Given the description of an element on the screen output the (x, y) to click on. 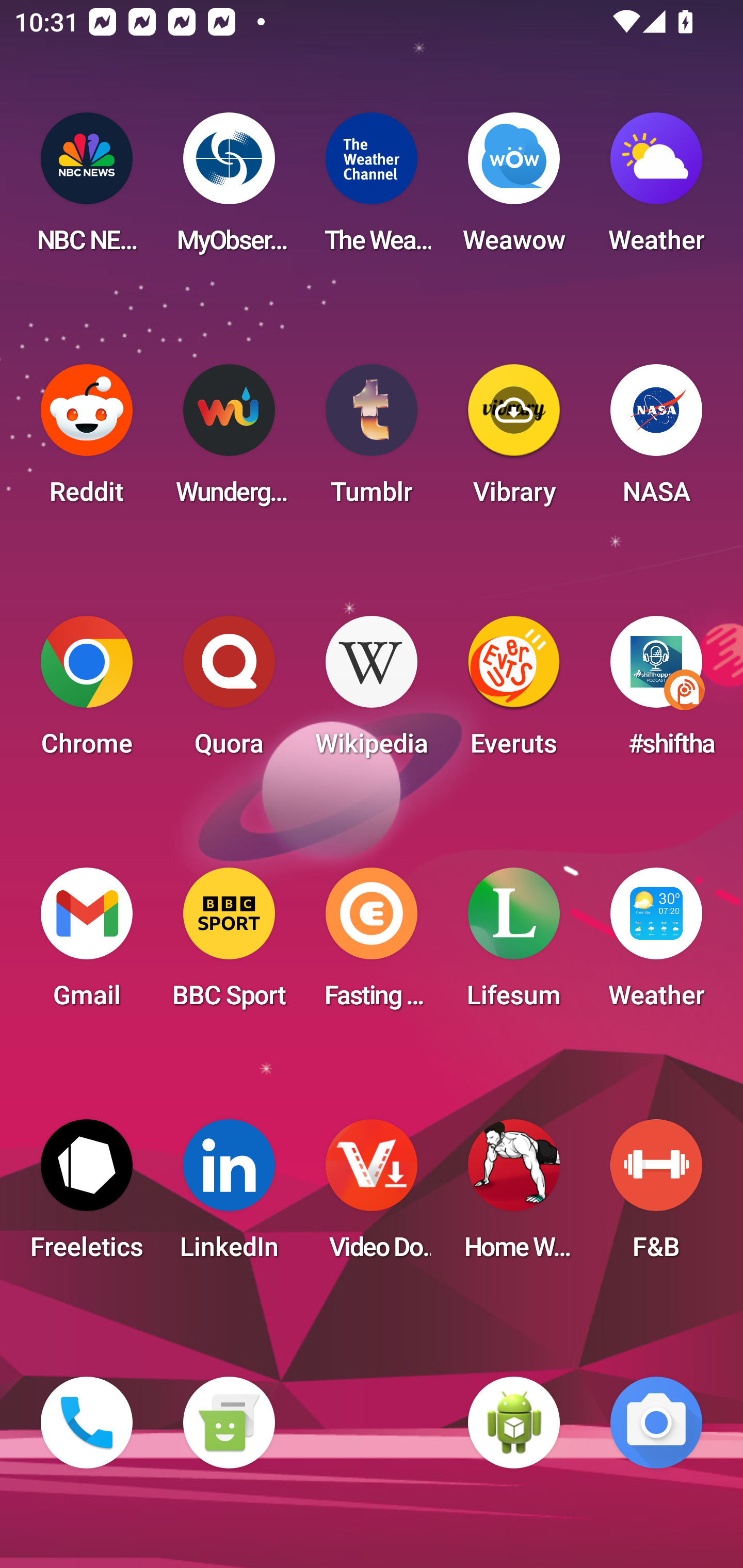
NBC NEWS (86, 188)
MyObservatory (228, 188)
The Weather Channel (371, 188)
Weawow (513, 188)
Weather (656, 188)
Reddit (86, 440)
Wunderground (228, 440)
Tumblr (371, 440)
Vibrary (513, 440)
NASA (656, 440)
Chrome (86, 692)
Quora (228, 692)
Wikipedia (371, 692)
Everuts (513, 692)
#shifthappens in the Digital Workplace Podcast (656, 692)
Gmail (86, 943)
BBC Sport (228, 943)
Fasting Coach (371, 943)
Lifesum (513, 943)
Weather (656, 943)
Freeletics (86, 1195)
LinkedIn (228, 1195)
Video Downloader & Ace Player (371, 1195)
Home Workout (513, 1195)
F&B (656, 1195)
Phone (86, 1422)
Messaging (228, 1422)
WebView Browser Tester (513, 1422)
Camera (656, 1422)
